Given the description of an element on the screen output the (x, y) to click on. 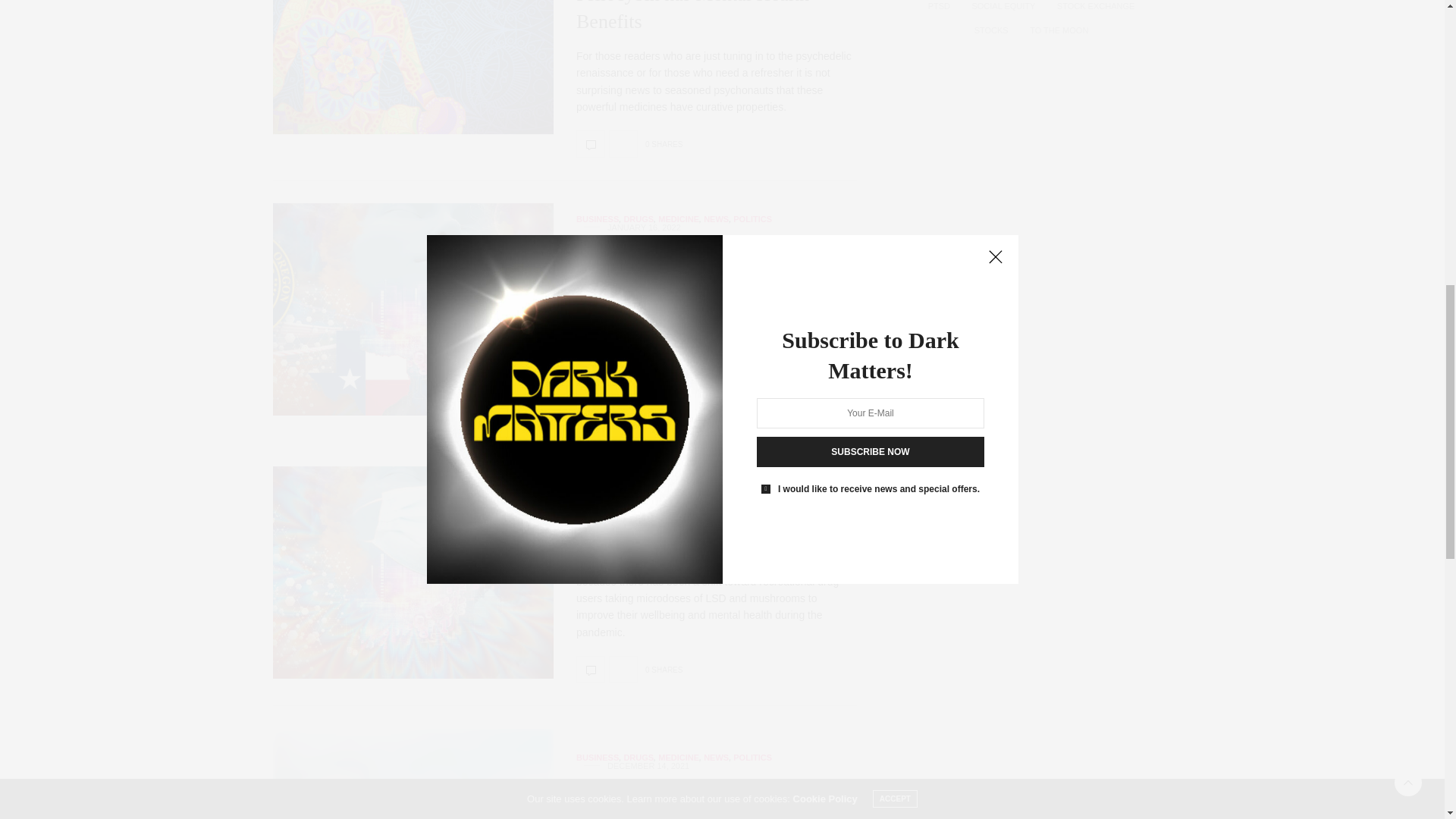
Oregon Psilocybin Update (413, 773)
The Psychedelic Wrap Up as the Pandemic Wears On (704, 515)
The Psychedelic Wrap Up as the Pandemic Wears On (413, 572)
The Psychedelic Wrap Up as the Pandemic Wears On (590, 669)
